Given the description of an element on the screen output the (x, y) to click on. 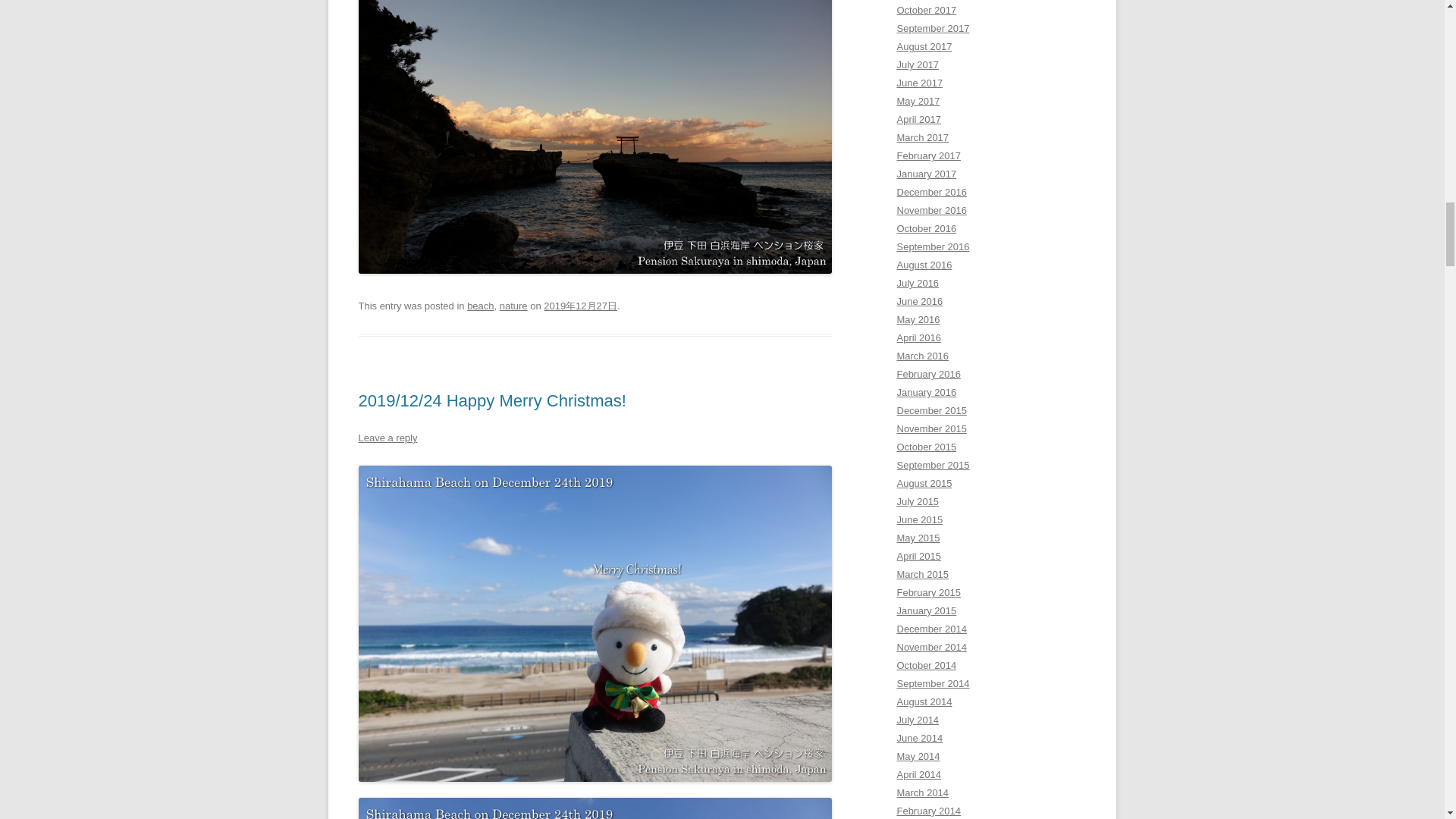
beach (480, 306)
10:05 PM (580, 306)
Leave a reply (387, 437)
nature (513, 306)
